Given the description of an element on the screen output the (x, y) to click on. 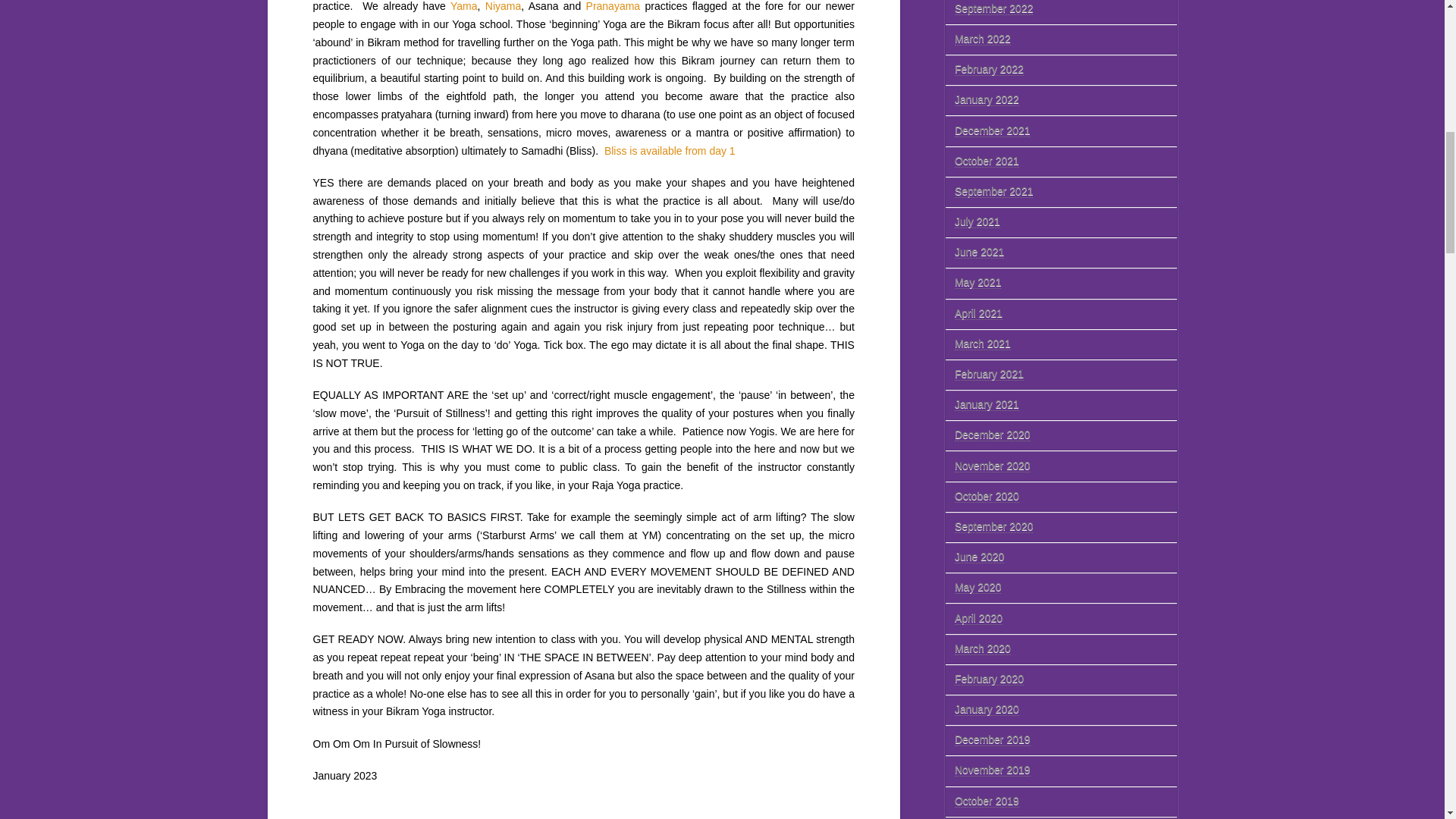
Pranayama (613, 6)
Niyama (502, 6)
Yama (463, 6)
Bliss is available from day 1  (671, 150)
